Given the description of an element on the screen output the (x, y) to click on. 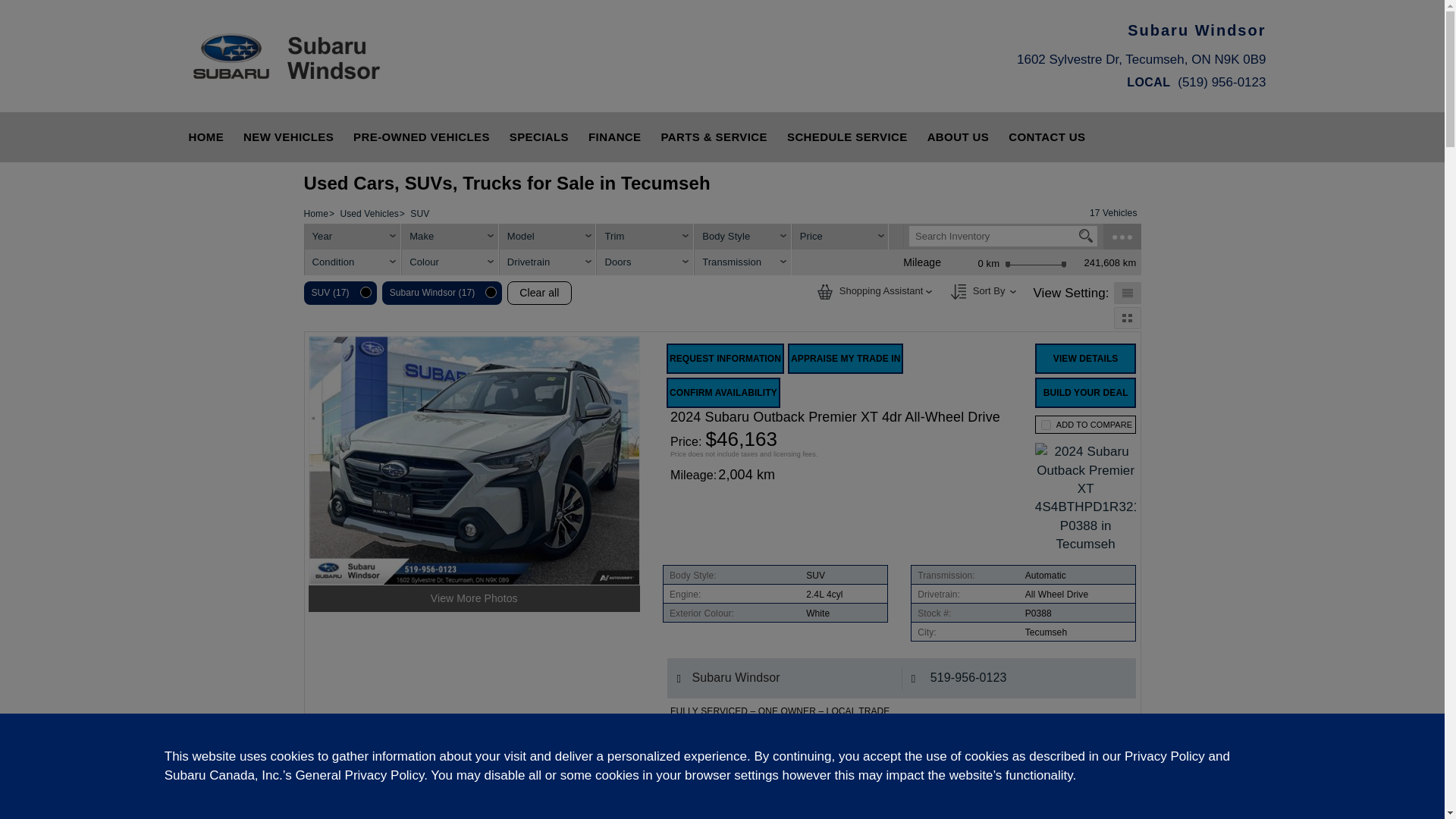
Listing View (1127, 292)
Used Vehicles (368, 213)
ABOUT US (957, 137)
Sort By (958, 291)
SCHEDULE SERVICE (847, 137)
Search (1085, 235)
FINANCE (614, 137)
Year (352, 236)
Grid View (1127, 317)
PRE-OWNED VEHICLES (421, 137)
